Given the description of an element on the screen output the (x, y) to click on. 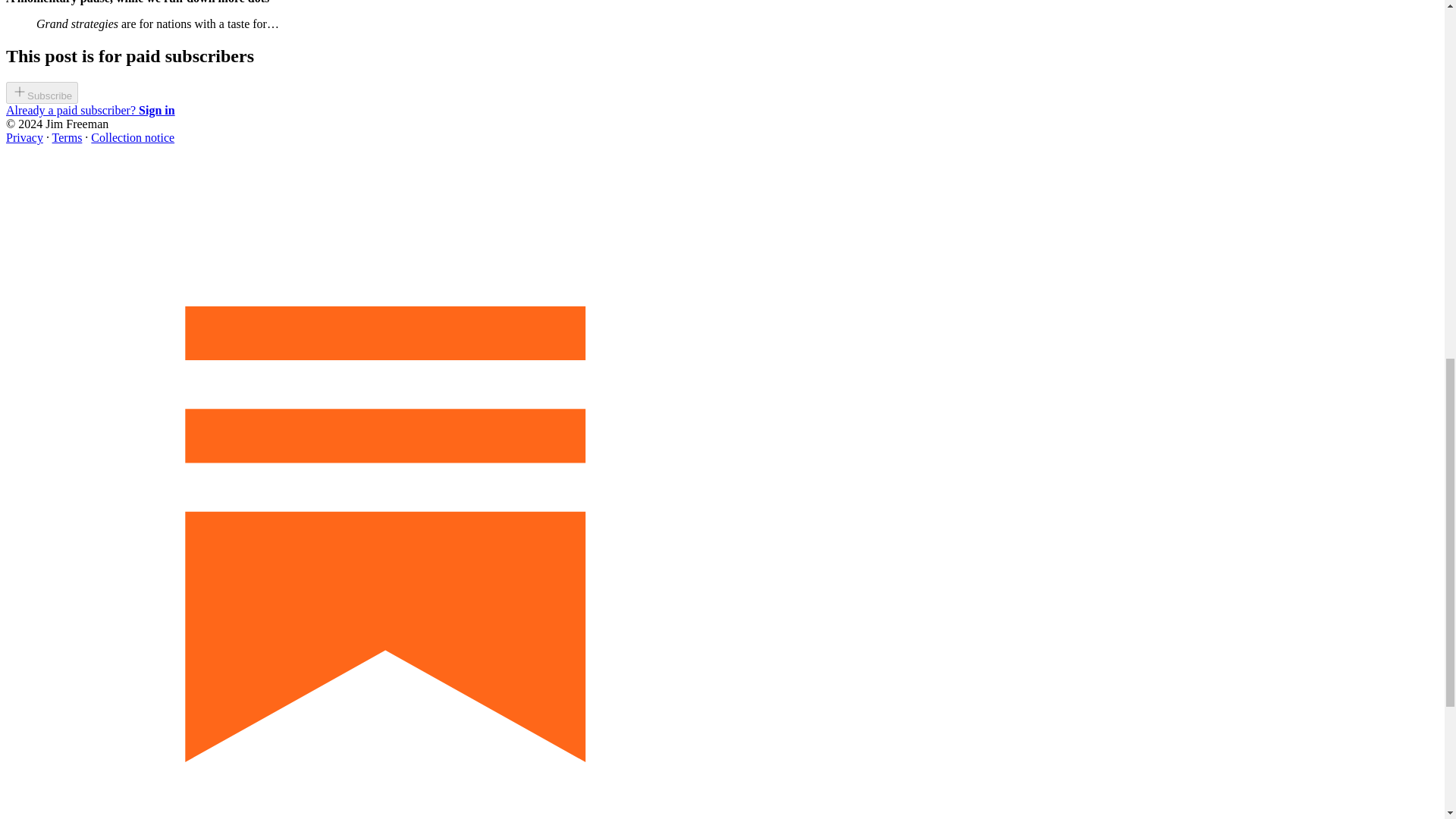
Subscribe (41, 94)
Collection notice (132, 137)
Subscribe (41, 92)
Already a paid subscriber? Sign in (89, 110)
Privacy (24, 137)
Terms (67, 137)
